Given the description of an element on the screen output the (x, y) to click on. 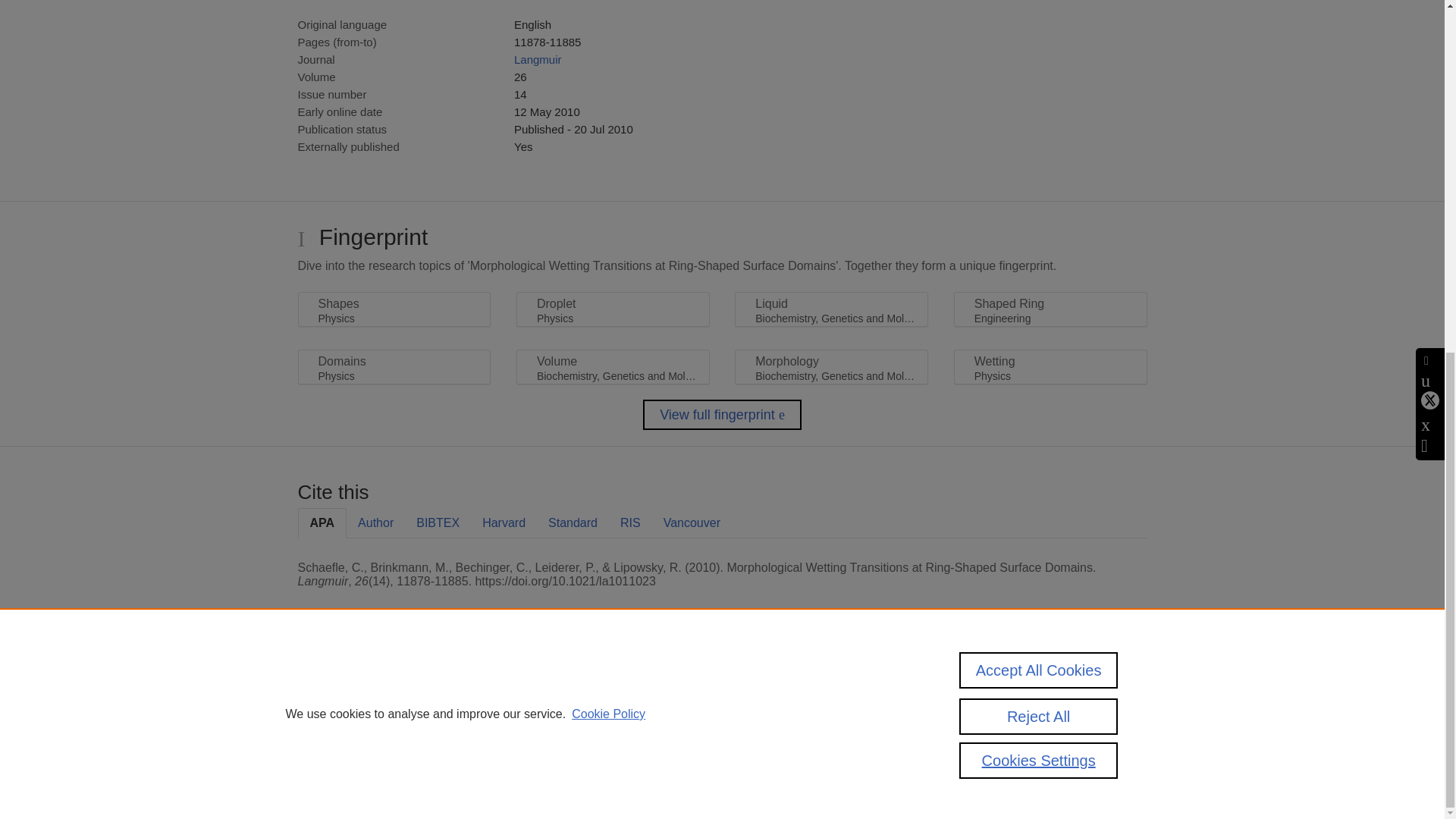
View full fingerprint (722, 414)
Scopus (394, 686)
Cookies Settings (334, 760)
Log in to Pure (327, 781)
Langmuir (537, 59)
Elsevier B.V. (506, 707)
use of cookies (796, 739)
Pure (362, 686)
